Given the description of an element on the screen output the (x, y) to click on. 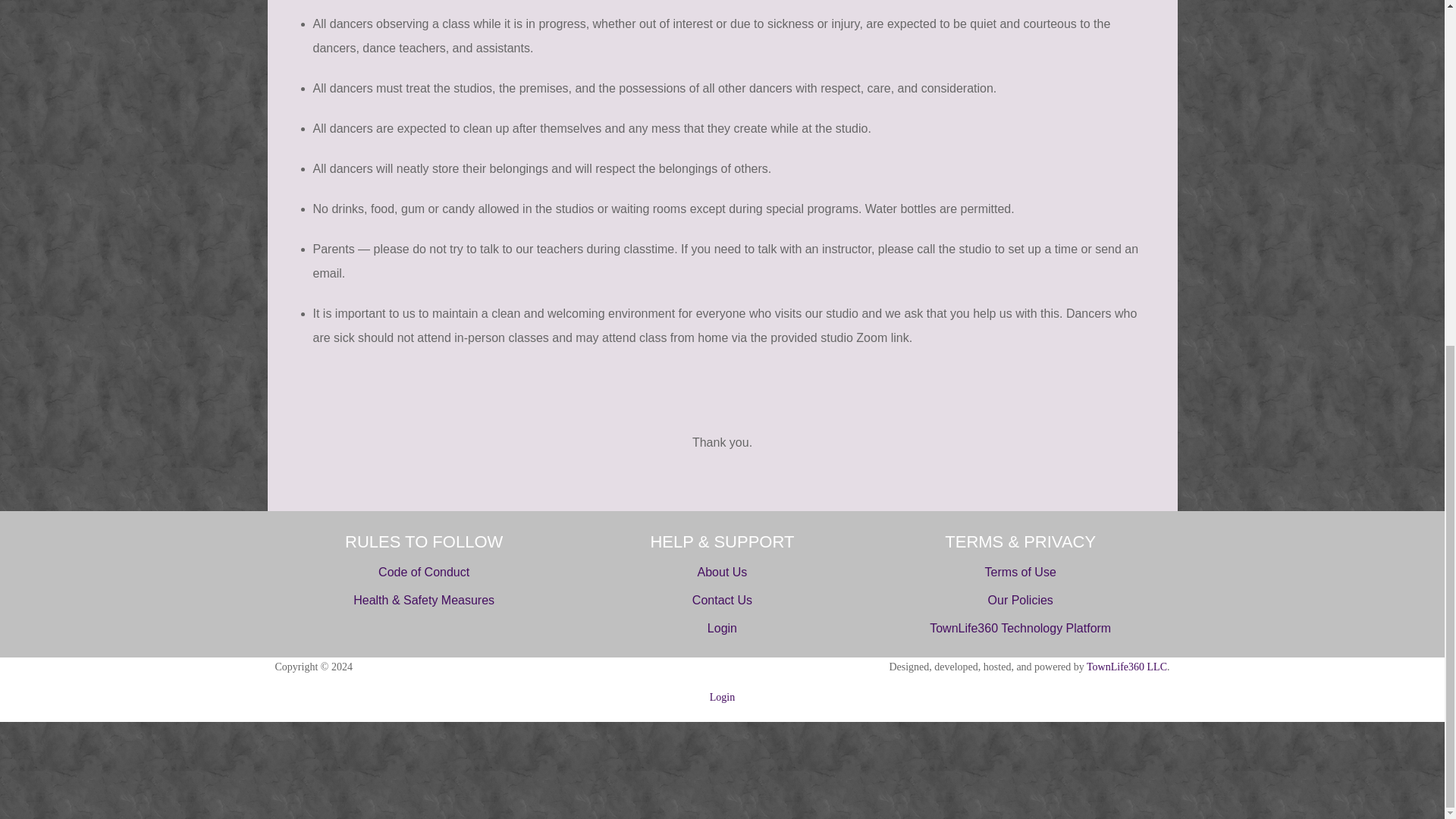
About Us (722, 571)
TownLife360 LLC (1126, 666)
Terms of Use (1021, 571)
TownLife360 Technology Platform (1020, 627)
Login (722, 696)
Our Policies (1020, 599)
Contact Us (722, 599)
Login (721, 627)
Code of Conduct (423, 571)
